Given the description of an element on the screen output the (x, y) to click on. 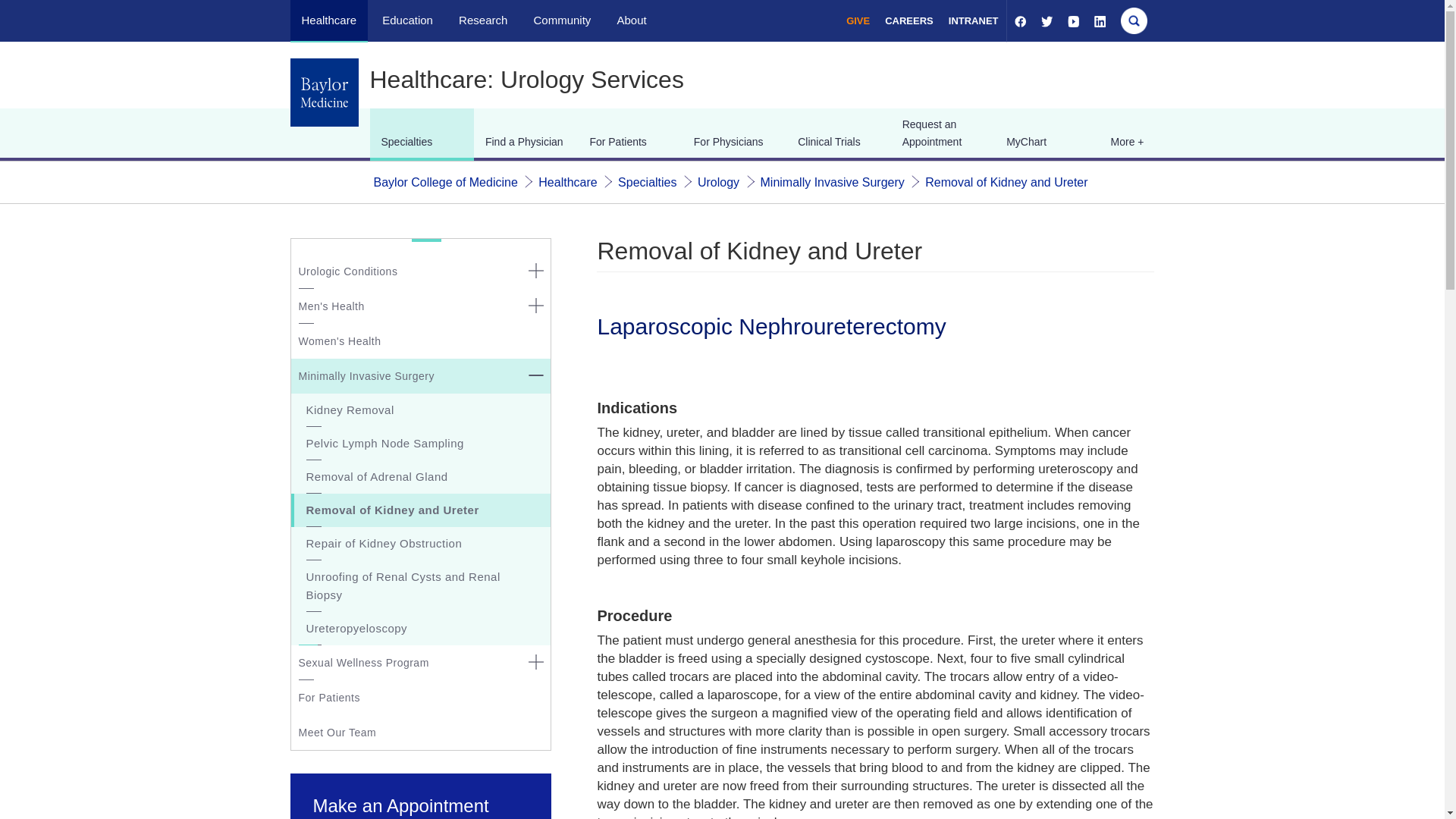
Baylor College of Medicine (444, 182)
Urology (718, 182)
Education (406, 19)
Removal of Kidney and Ureter (1005, 182)
Minimally Invasive Surgery (832, 182)
Healthcare (567, 182)
Healthcare (328, 19)
Specialties (647, 182)
